Given the description of an element on the screen output the (x, y) to click on. 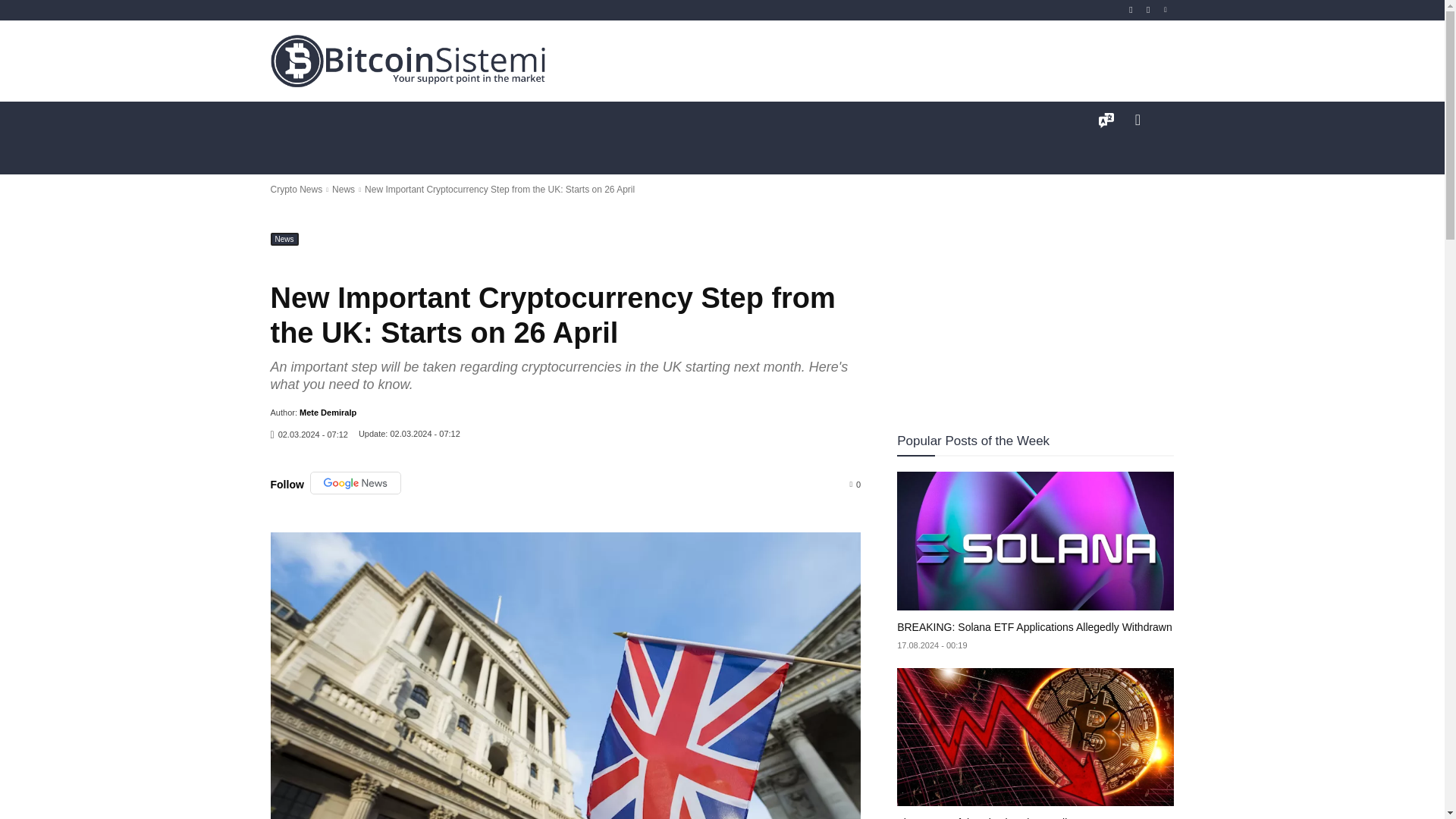
Bitcoin Sistemi (408, 61)
RSS (1131, 9)
Telegram (1148, 9)
View all posts in News (343, 189)
Twitter (1165, 9)
